Given the description of an element on the screen output the (x, y) to click on. 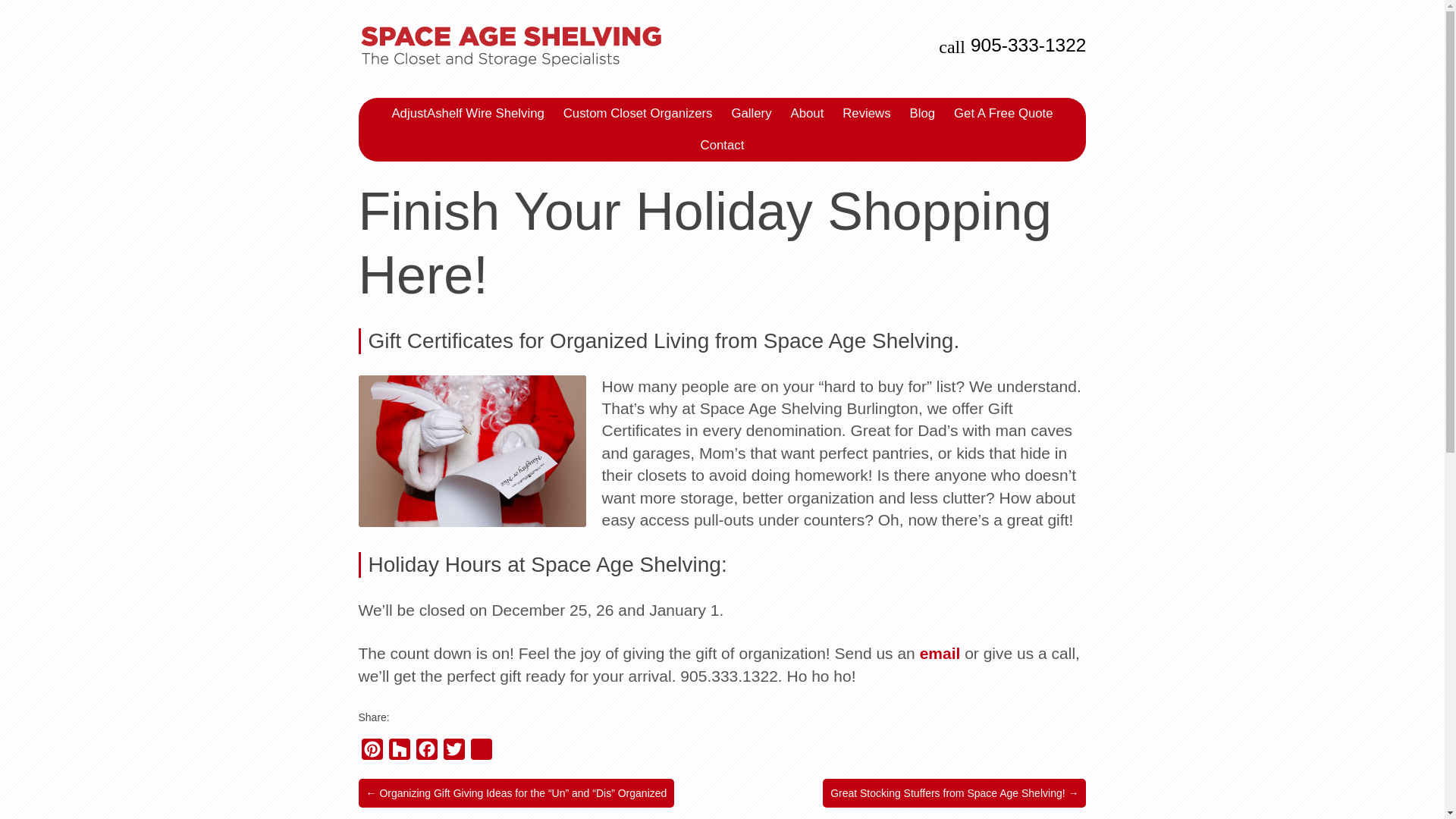
Facebook (425, 752)
Reviews (866, 113)
Contact (722, 145)
About (807, 113)
Pinterest (371, 752)
Pinterest (371, 752)
AdjustAshelf Wire Shelving (467, 113)
Contact (722, 145)
Gallery (750, 113)
Custom Closet Organizers (638, 113)
Houzz (398, 752)
Houzz (398, 752)
Get A Free Quote (1002, 113)
